Given the description of an element on the screen output the (x, y) to click on. 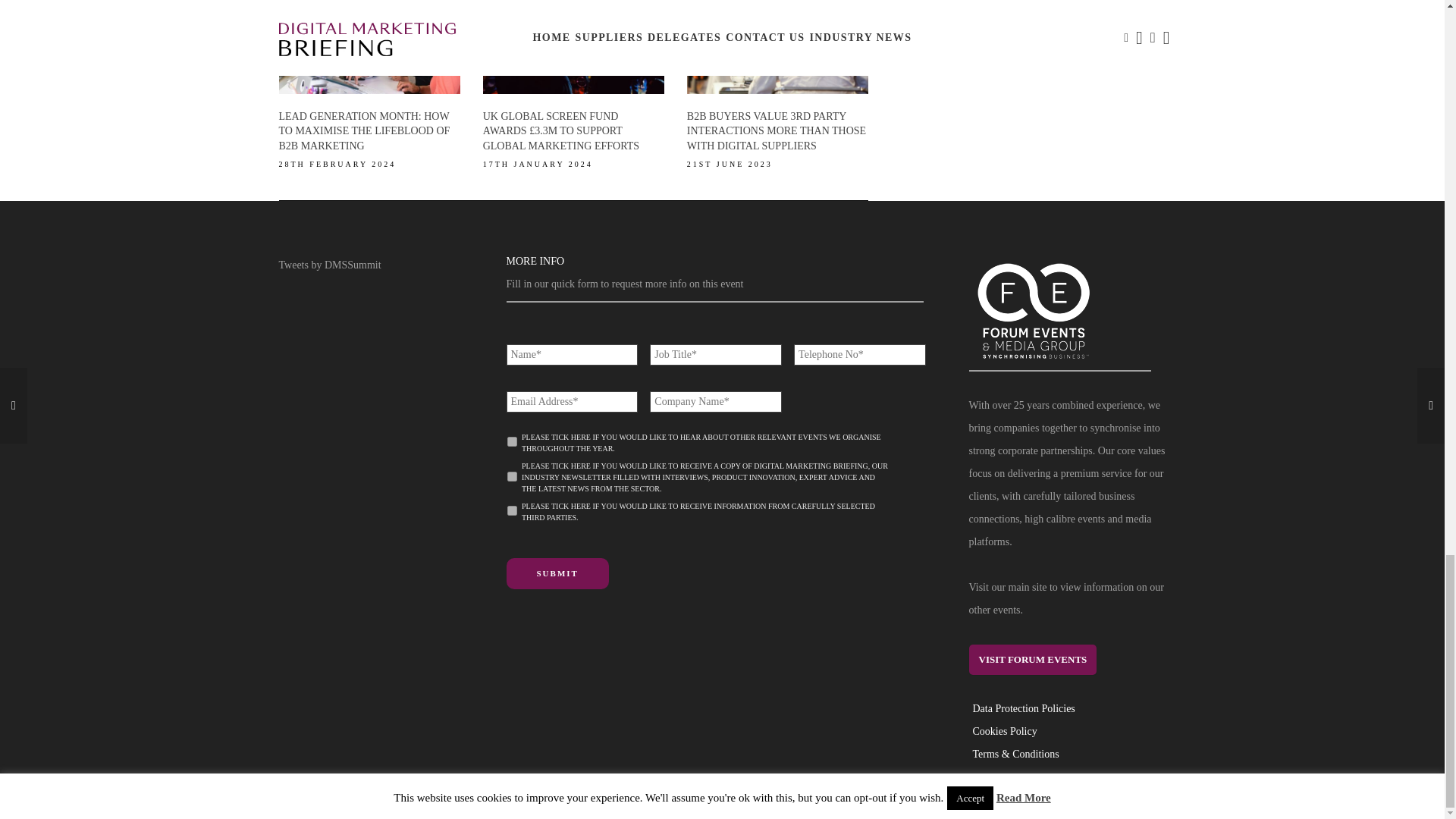
Submit (557, 572)
